Given the description of an element on the screen output the (x, y) to click on. 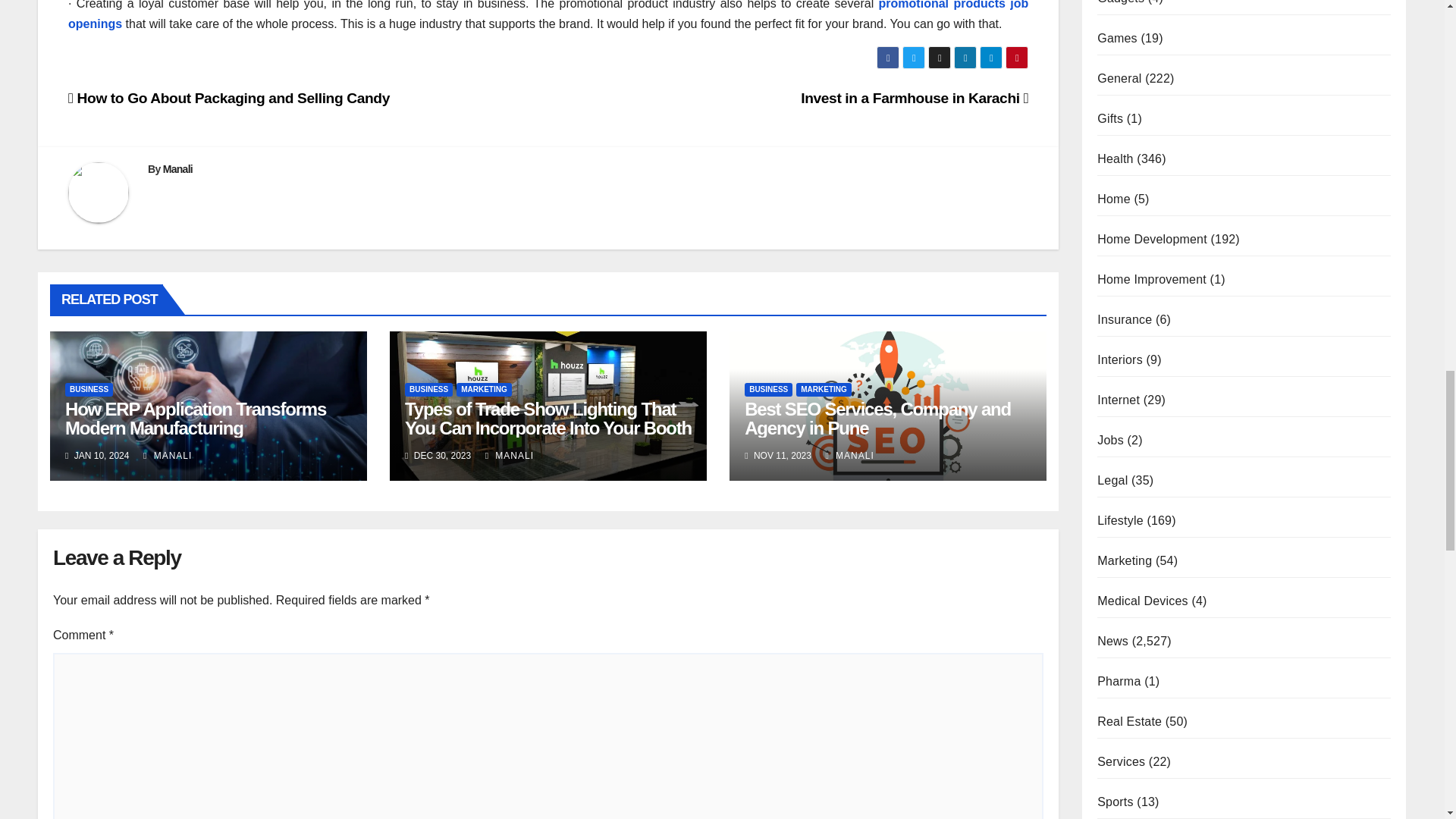
Manali (177, 168)
BUSINESS (768, 389)
How to Go About Packaging and Selling Candy (229, 98)
Invest in a Farmhouse in Karachi (913, 98)
BUSINESS (89, 389)
BUSINESS (428, 389)
Permalink to: Best SEO Services, Company and Agency in Pune (877, 418)
MANALI (167, 455)
promotional products job openings (547, 15)
How ERP Application Transforms Modern Manufacturing (195, 418)
MANALI (509, 455)
MARKETING (484, 389)
